Given the description of an element on the screen output the (x, y) to click on. 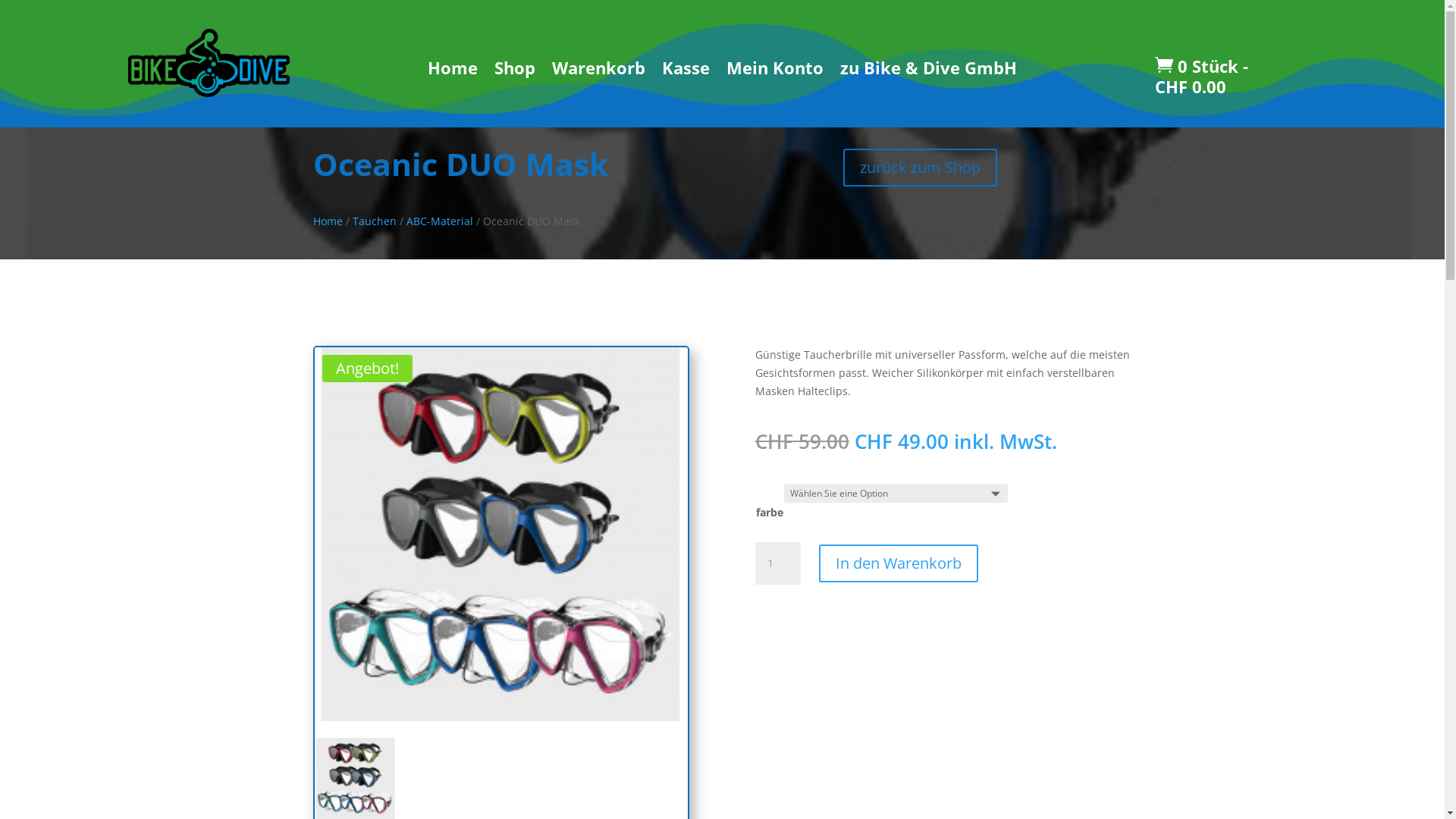
Warenkorb Element type: text (598, 70)
Home Element type: text (452, 70)
Home Element type: text (327, 220)
Menge Element type: hover (777, 563)
Alle akzeptieren Element type: text (150, 809)
Kasse Element type: text (685, 70)
In den Warenkorb Element type: text (898, 563)
Mein Konto Element type: text (774, 70)
Cookie Einstellungen Element type: text (53, 809)
Shop Element type: text (514, 70)
zu Bike & Dive GmbH Element type: text (928, 70)
Tauchen Element type: text (373, 220)
ABC-Material Element type: text (439, 220)
